Given the description of an element on the screen output the (x, y) to click on. 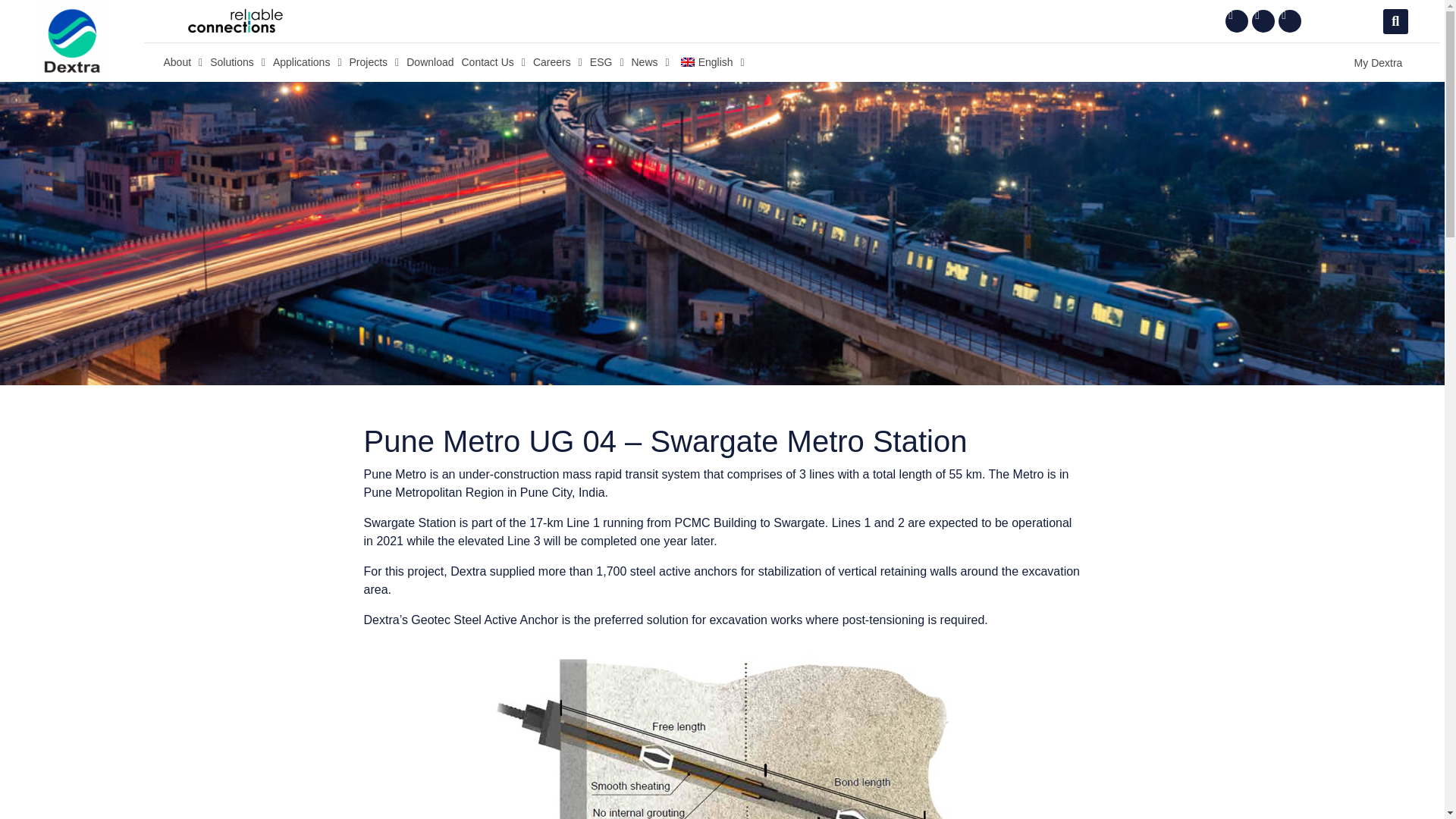
English (687, 61)
About (182, 62)
Applications (307, 62)
Solutions (237, 62)
